Given the description of an element on the screen output the (x, y) to click on. 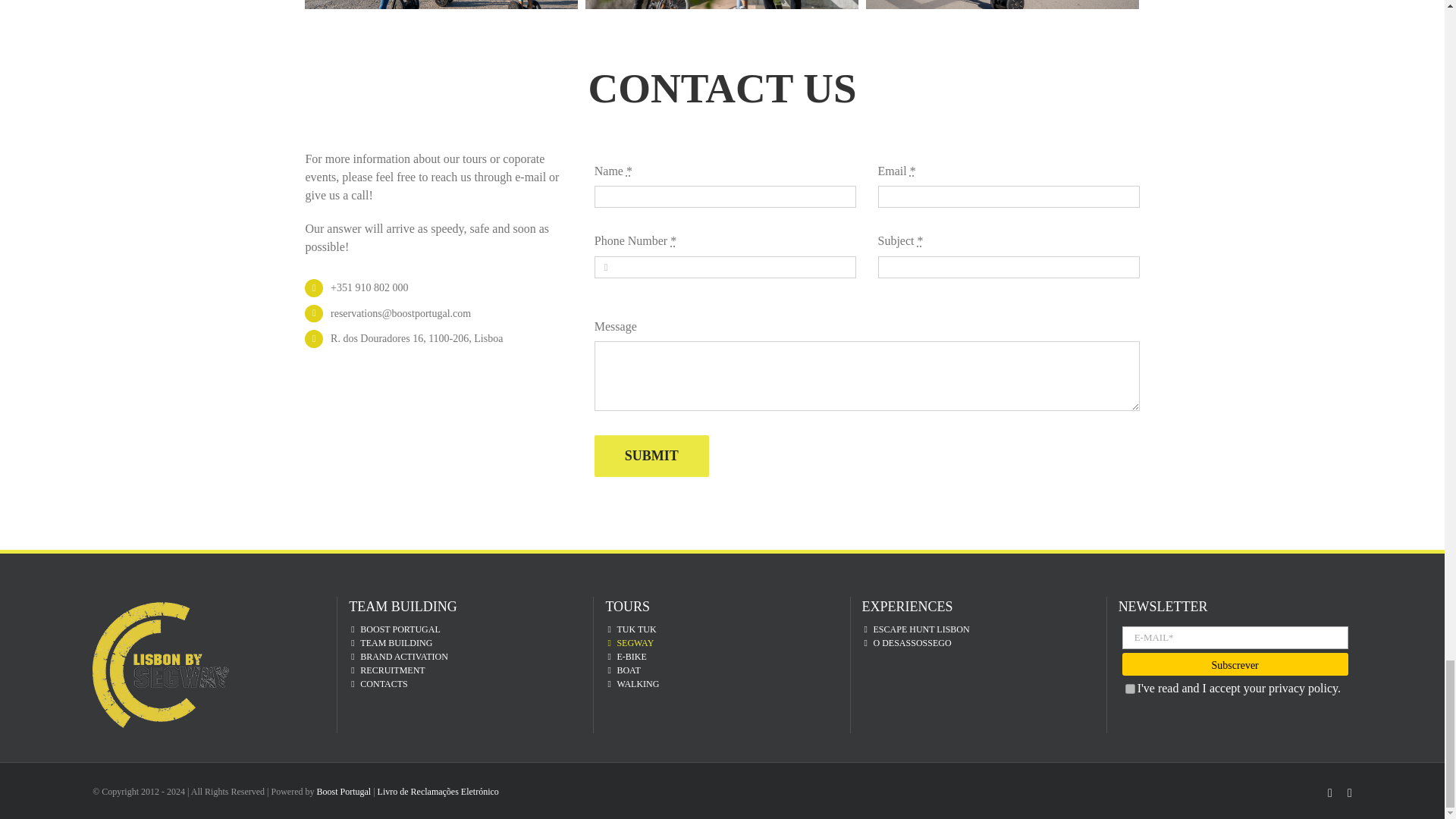
on (1130, 688)
EXTRAORDINARY MOMENTS (721, 12)
Subscrever (1235, 663)
BOOST PORTUGAL (469, 629)
SUBMIT (651, 455)
